Given the description of an element on the screen output the (x, y) to click on. 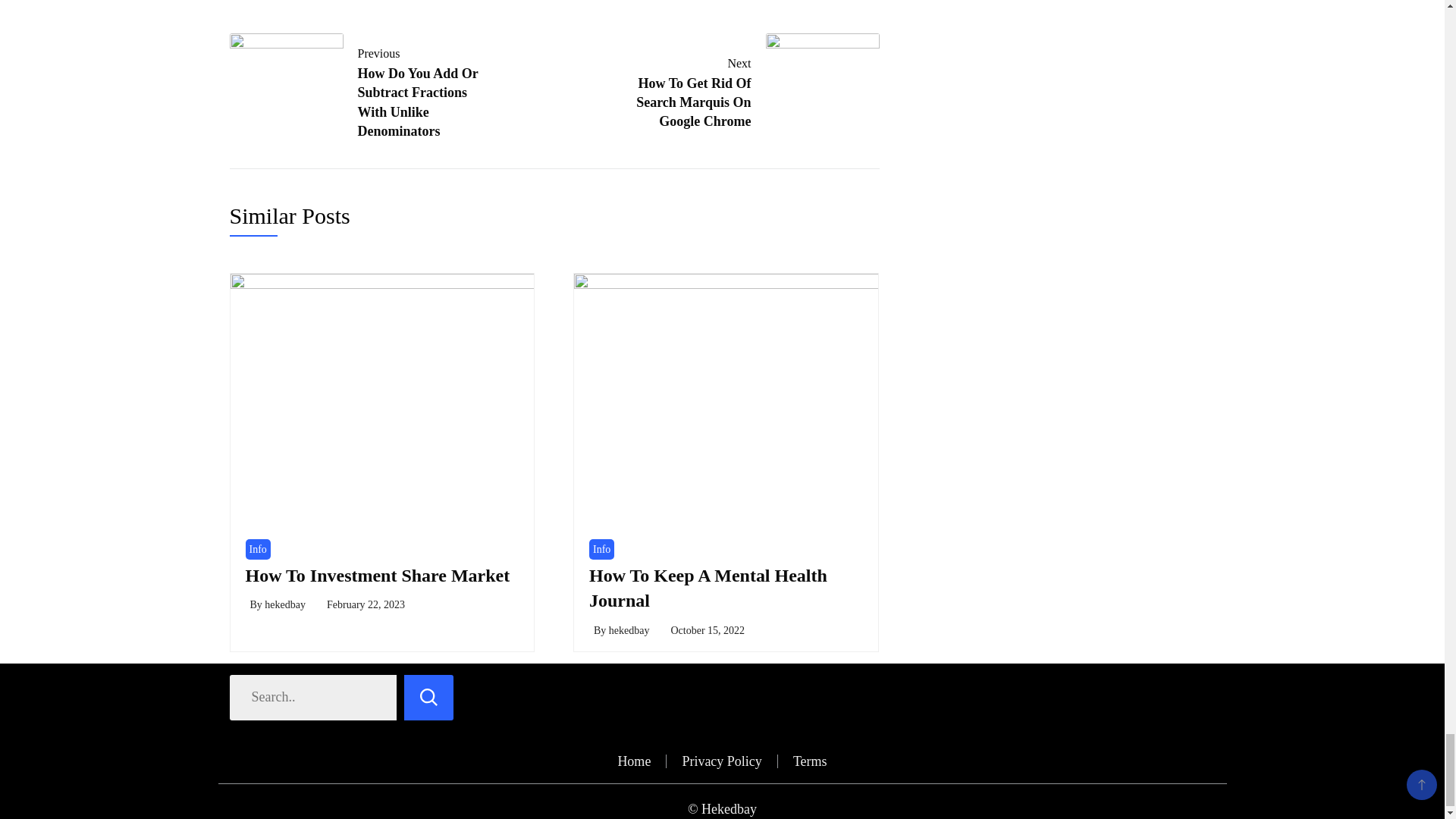
October 15, 2022 (706, 630)
hekedbay (628, 630)
Info (601, 548)
February 22, 2023 (365, 604)
How To Keep A Mental Health Journal (739, 89)
hekedbay (708, 587)
Info (284, 604)
How To Investment Share Market (258, 548)
